Given the description of an element on the screen output the (x, y) to click on. 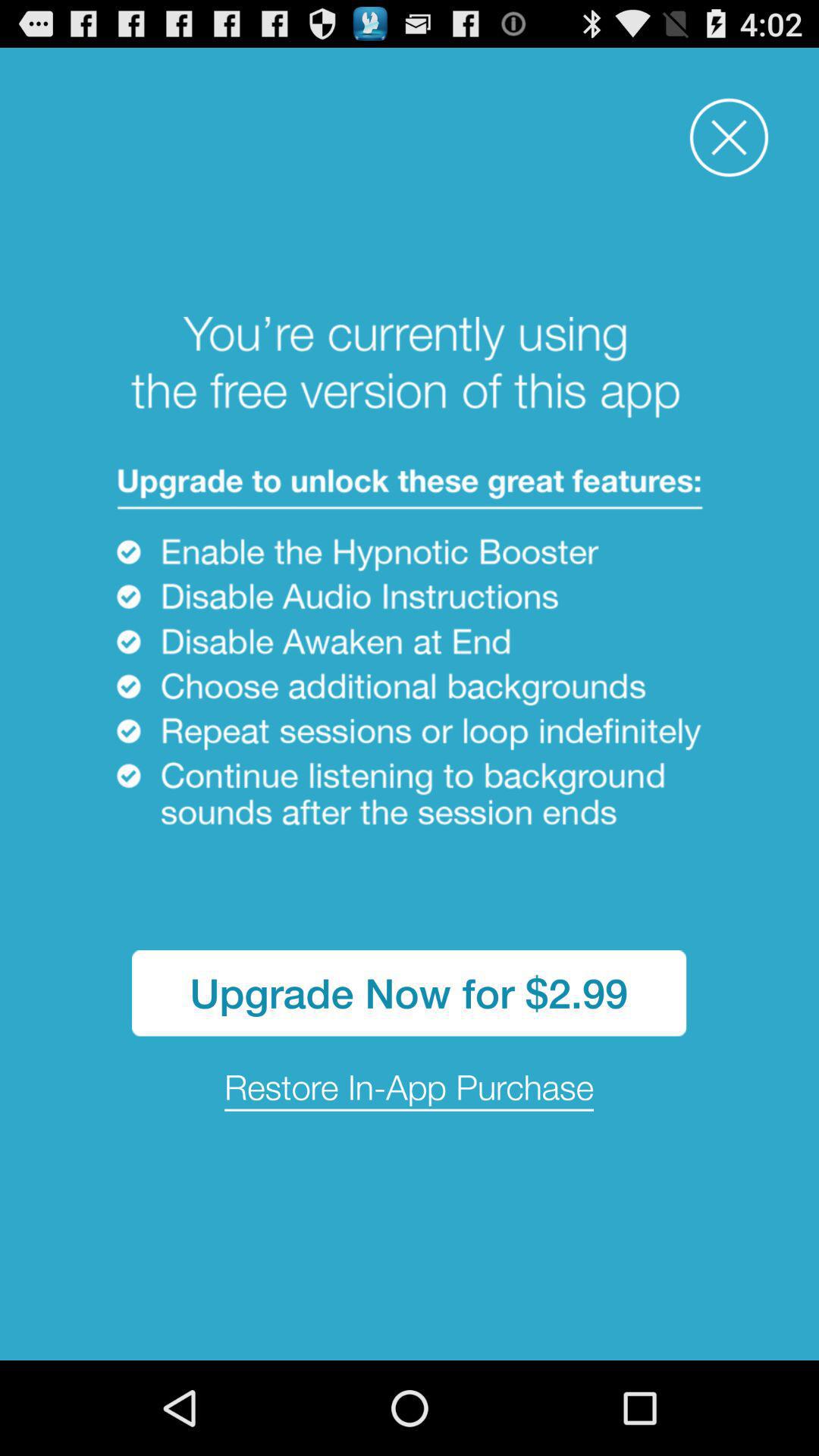
open the app above the restore in app (408, 993)
